Given the description of an element on the screen output the (x, y) to click on. 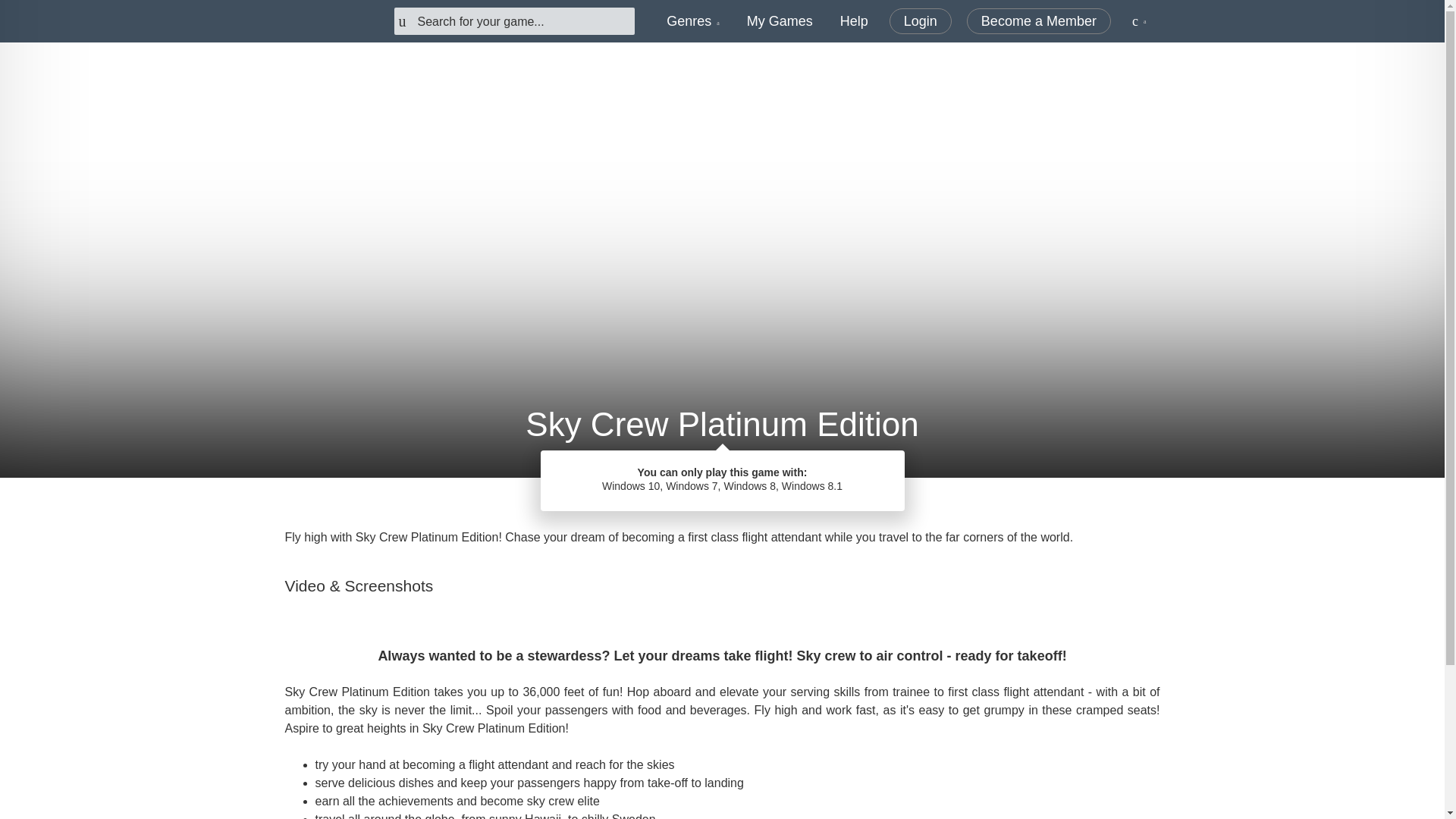
Help (854, 21)
Help (854, 21)
My Games (780, 21)
Time Management (658, 498)
Windows Games (775, 498)
Become a Member (1038, 21)
Login (920, 21)
Time Management (658, 498)
Login (920, 21)
Windows Games (775, 498)
